Given the description of an element on the screen output the (x, y) to click on. 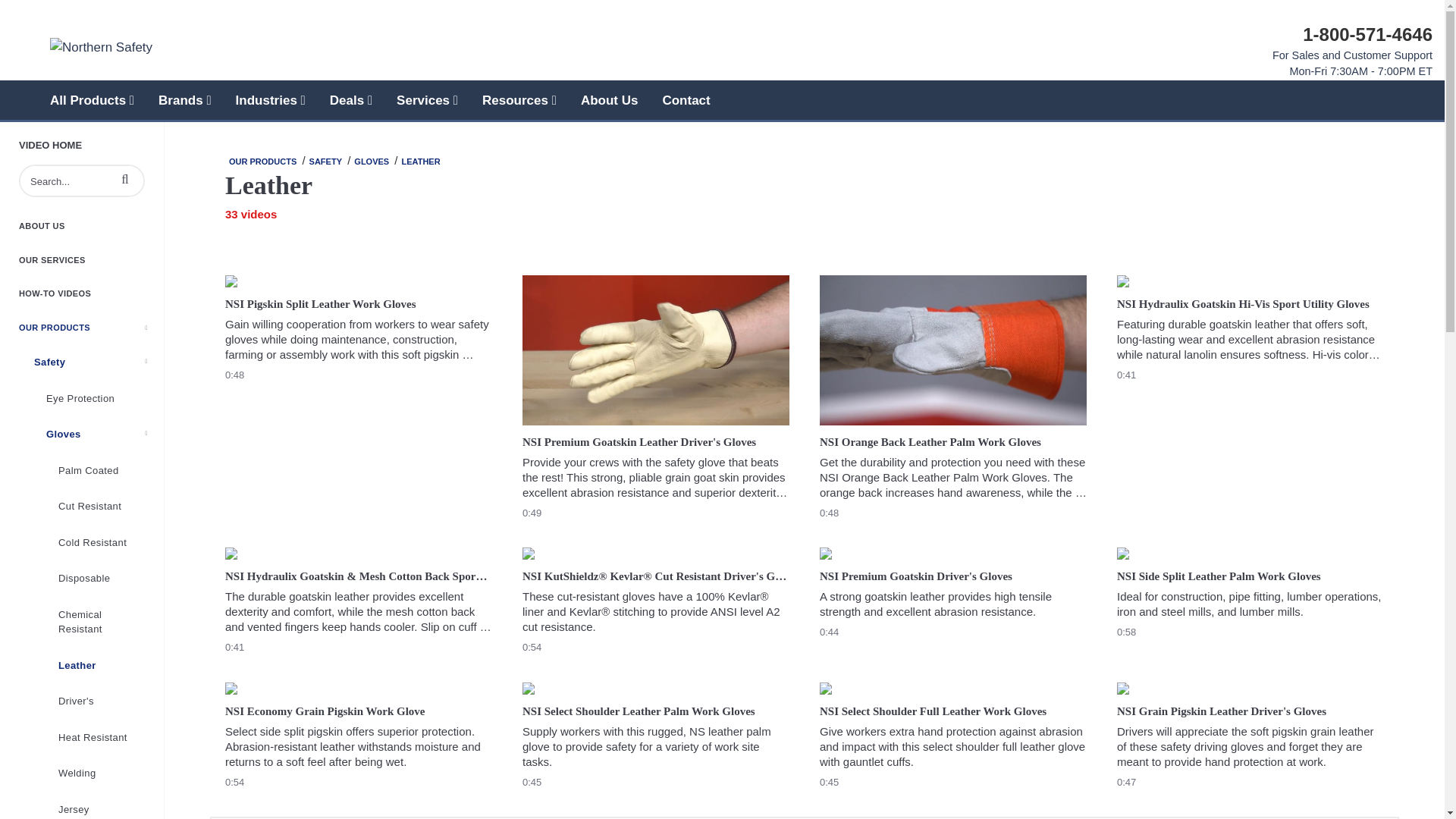
Brands (185, 100)
All Products (92, 100)
Industries (270, 100)
Services (427, 100)
Deals (350, 100)
